Given the description of an element on the screen output the (x, y) to click on. 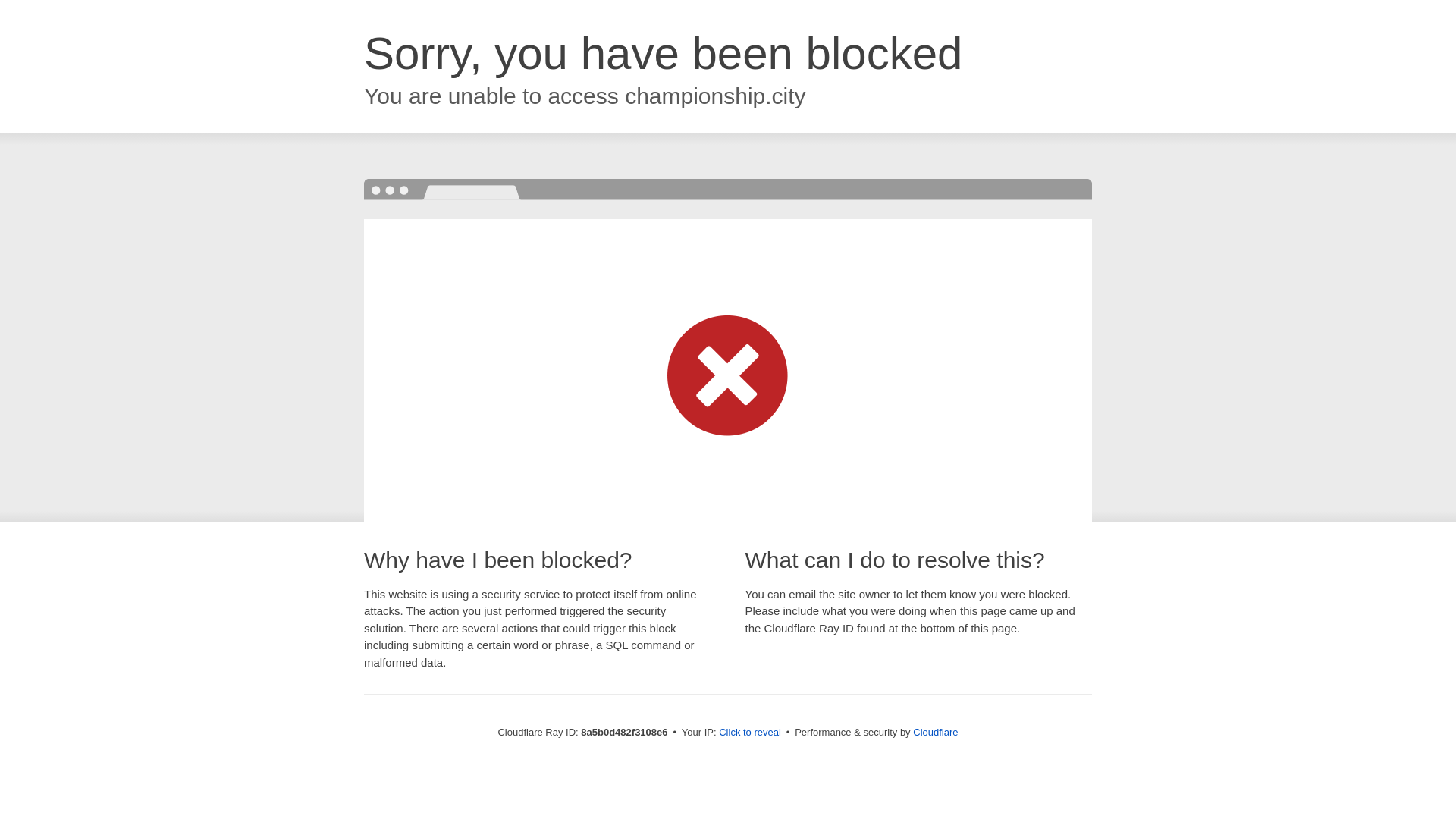
Cloudflare (935, 731)
Click to reveal (749, 732)
